Given the description of an element on the screen output the (x, y) to click on. 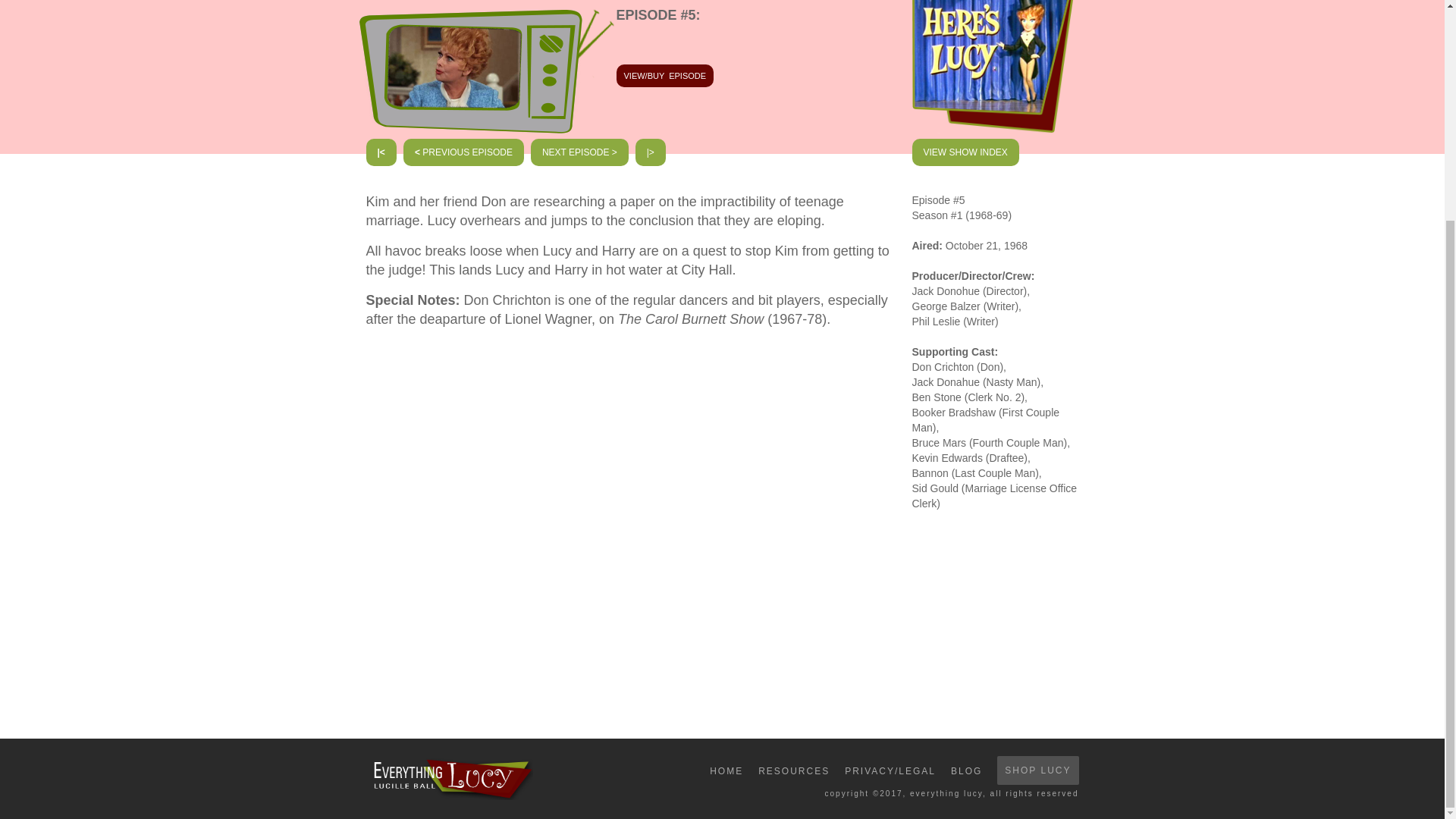
HOME (726, 770)
BLOG (966, 770)
RESOURCES (794, 770)
VIEW SHOW INDEX (964, 152)
SHOP LUCY (1037, 769)
